Given the description of an element on the screen output the (x, y) to click on. 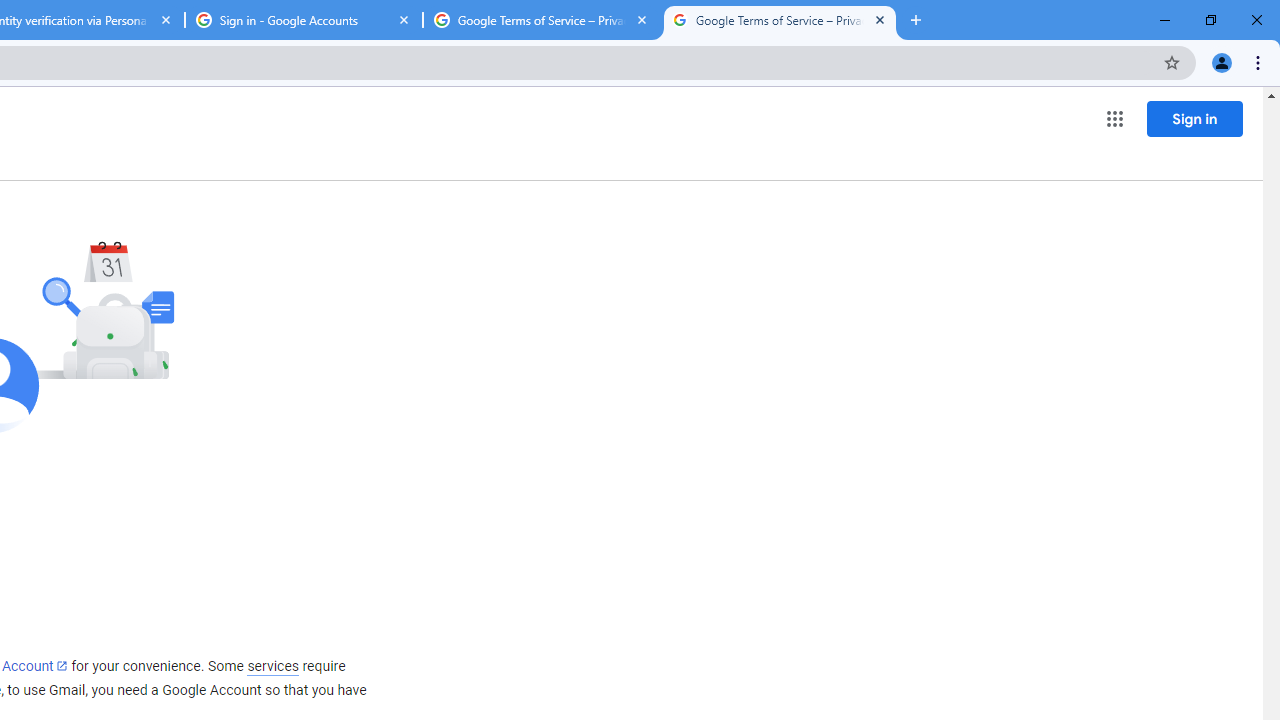
Sign in - Google Accounts (304, 20)
services (273, 666)
